Given the description of an element on the screen output the (x, y) to click on. 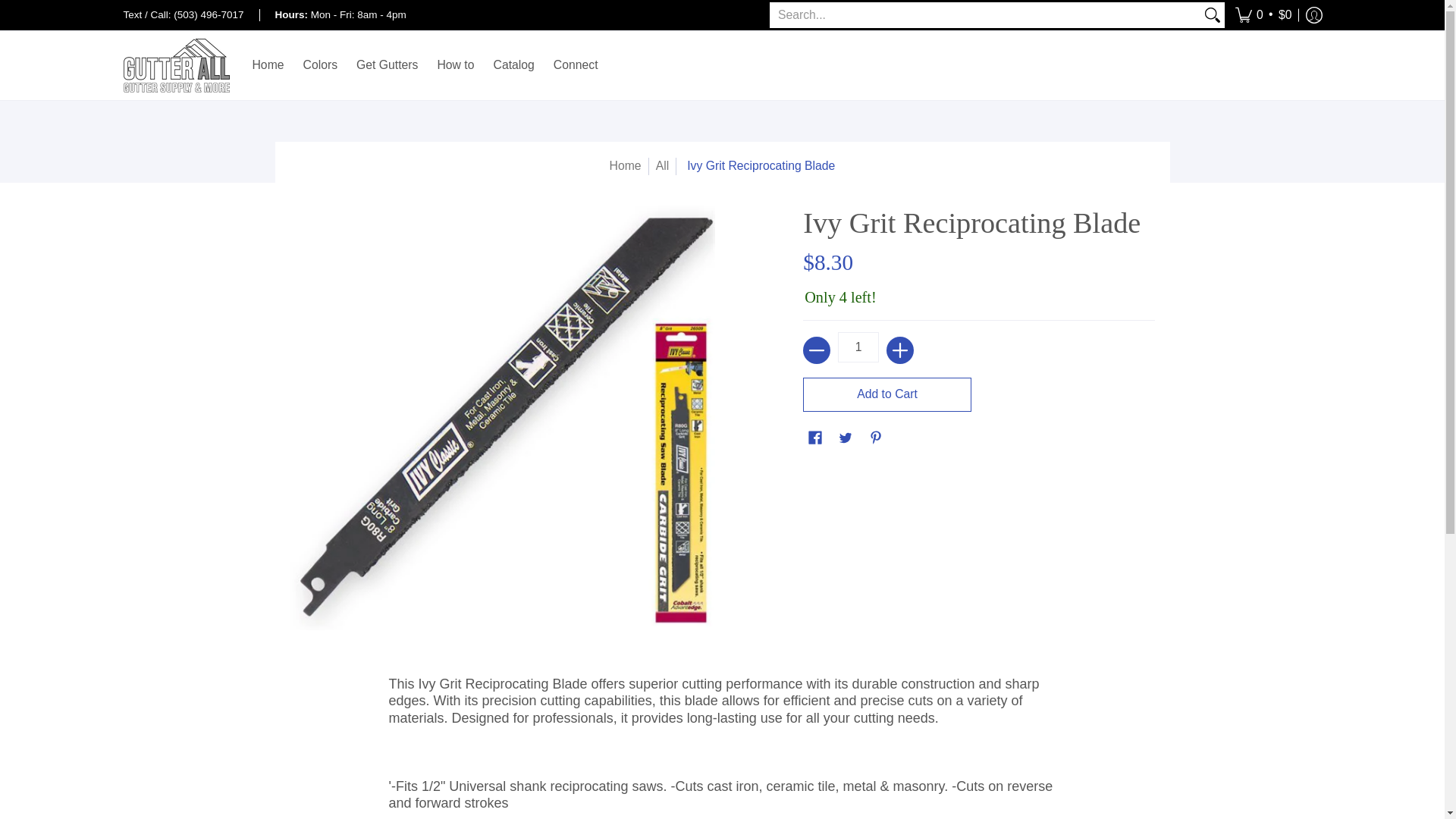
Home (626, 164)
1 (858, 347)
Get Gutters (387, 65)
Cart (1263, 15)
Add to Cart (887, 394)
Log in (1312, 15)
Get Gutters (387, 65)
Gutter All (175, 65)
All (662, 164)
